Given the description of an element on the screen output the (x, y) to click on. 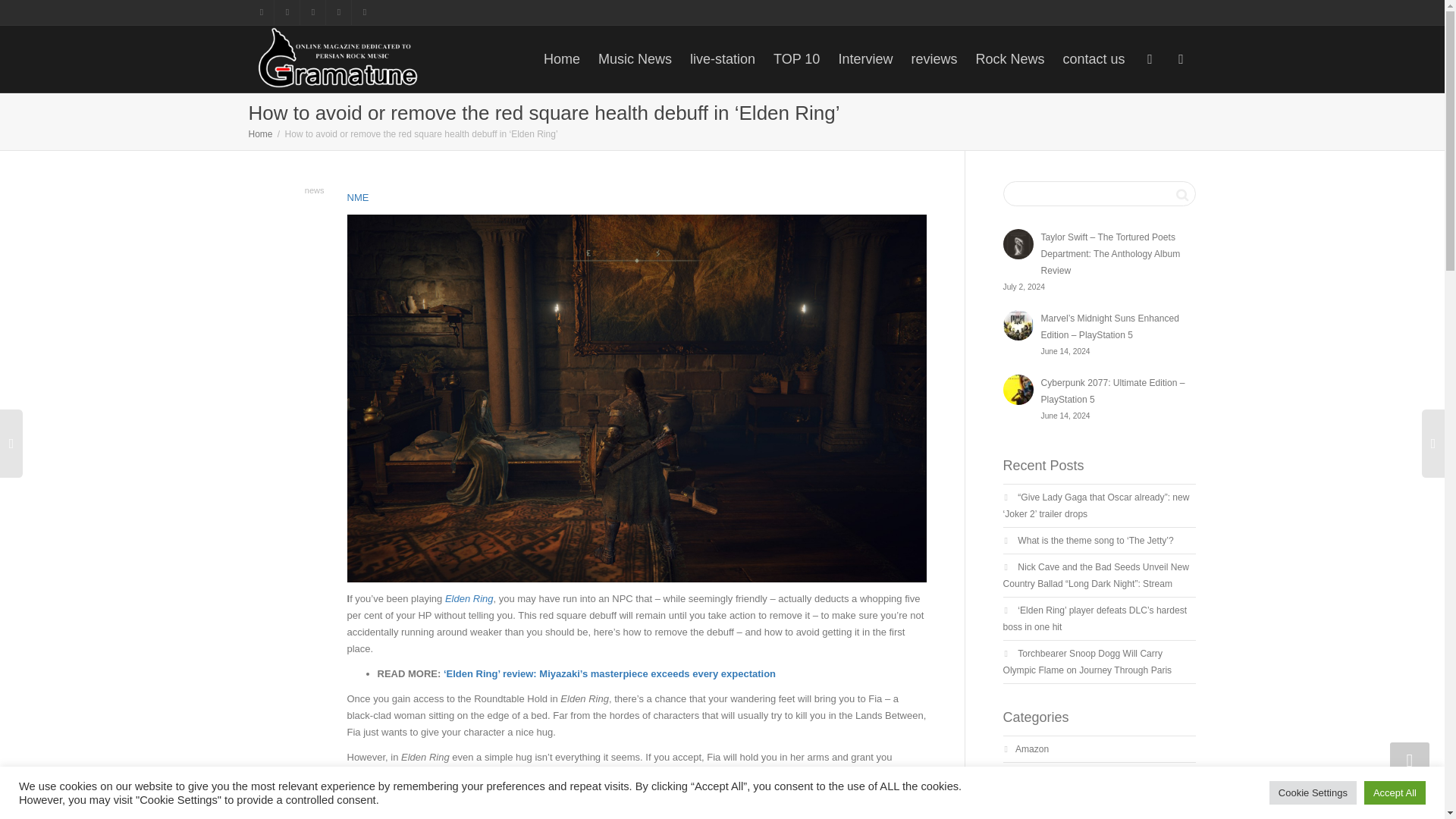
Search (1181, 194)
live-station (722, 58)
Home (260, 133)
Rock News (1009, 58)
contact us (1093, 58)
Search (1181, 194)
live-station (722, 58)
Music News (634, 58)
NME (358, 197)
contact us (1093, 58)
Rock News (1009, 58)
Elden Ring (469, 598)
Music News (634, 58)
news (314, 189)
